Given the description of an element on the screen output the (x, y) to click on. 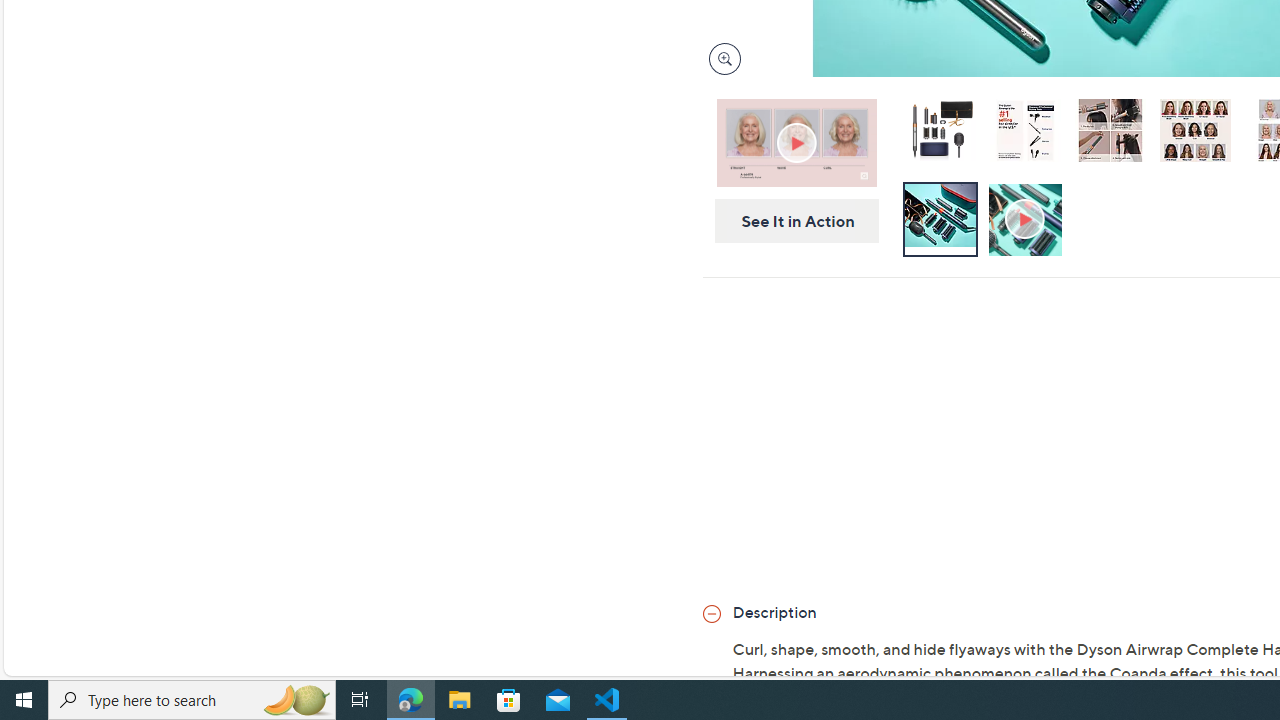
Type here to search (191, 699)
Visual Studio Code - 1 running window (607, 699)
See It in Action (790, 221)
How to Use (1027, 219)
Magnify Image (724, 57)
Zoom product image, opens image gallery dialog (719, 59)
Search highlights icon opens search home window (295, 699)
Dyson Airwrap Complete with Paddle Brush and Travel Pouch (939, 129)
Task View (359, 699)
Dyson Airwrap Complete with Paddle Brush and Travel Pouch (939, 133)
